Given the description of an element on the screen output the (x, y) to click on. 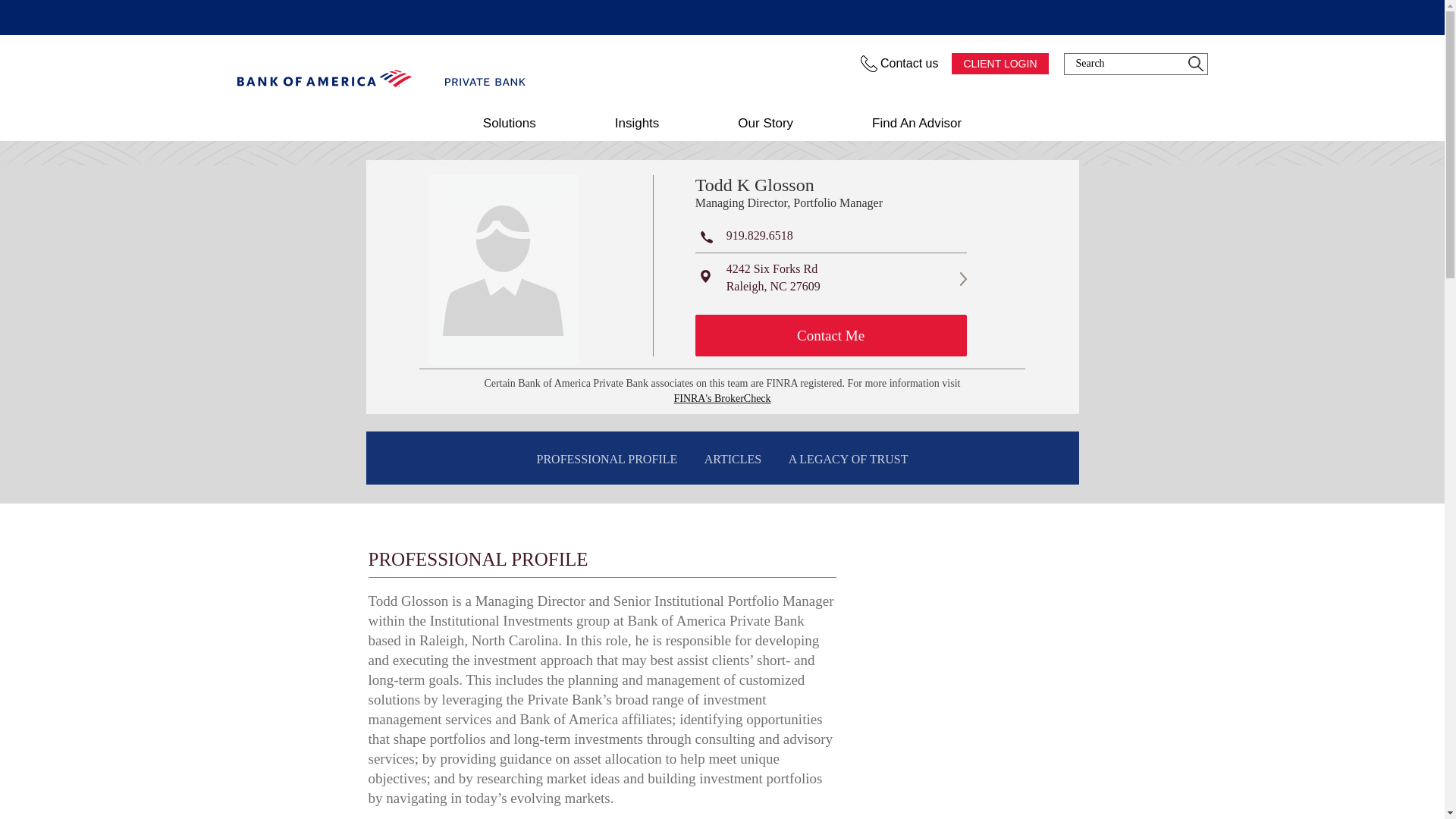
Insights (637, 122)
PROFESSIONAL PROFILE (607, 459)
Contact Me (830, 335)
Contact us (900, 63)
CLIENT LOGIN (1000, 63)
FINRA's BrokerCheck (721, 398)
Solutions (509, 122)
A LEGACY OF TRUST (848, 459)
Our Story (765, 122)
ARTICLES (733, 459)
